Given the description of an element on the screen output the (x, y) to click on. 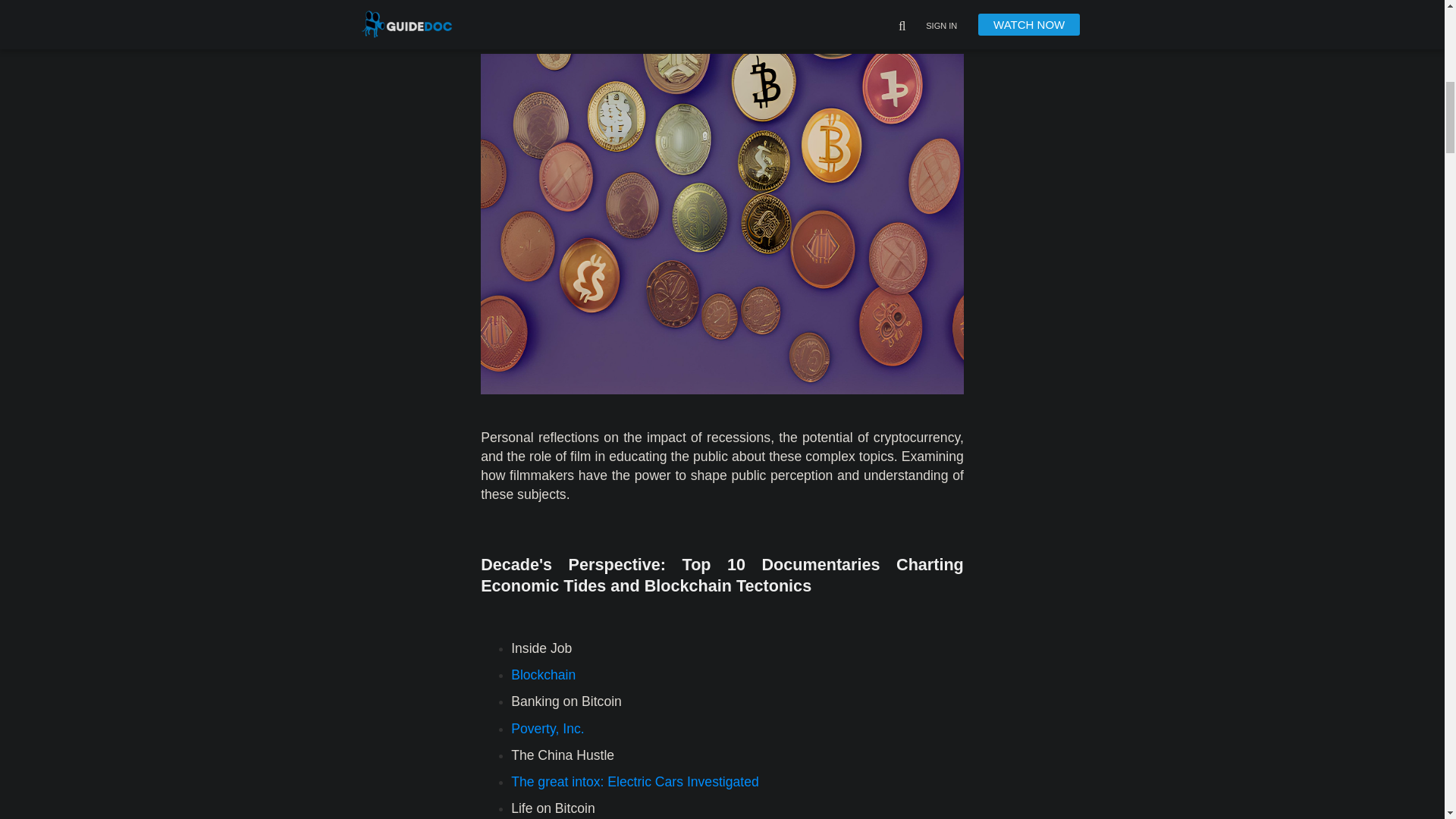
The great intox: Electric Cars Investigated (634, 781)
Blockchain (543, 674)
ecessions (740, 437)
Poverty, Inc. (547, 728)
